Given the description of an element on the screen output the (x, y) to click on. 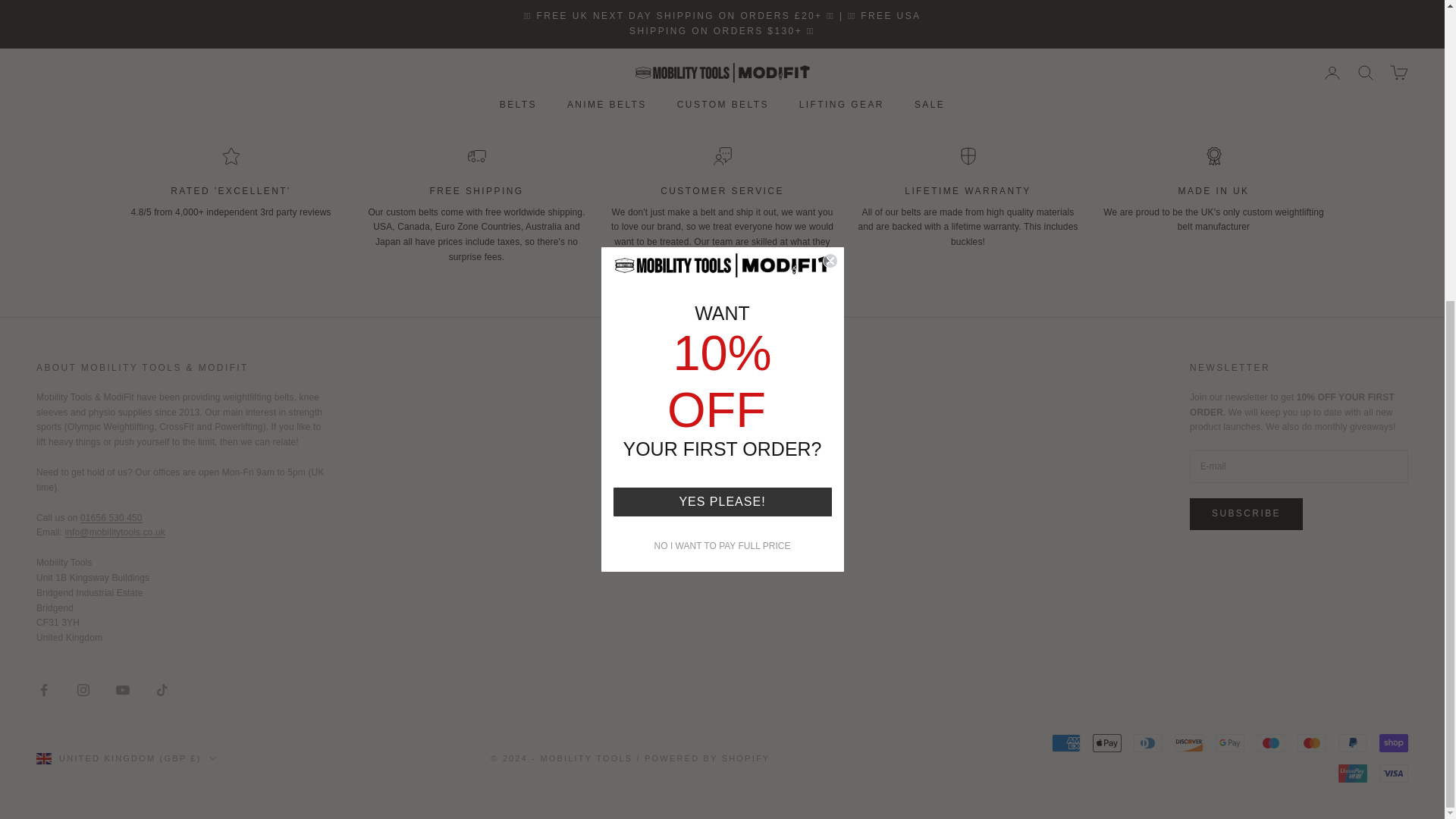
tel:01656530450 (111, 517)
